Given the description of an element on the screen output the (x, y) to click on. 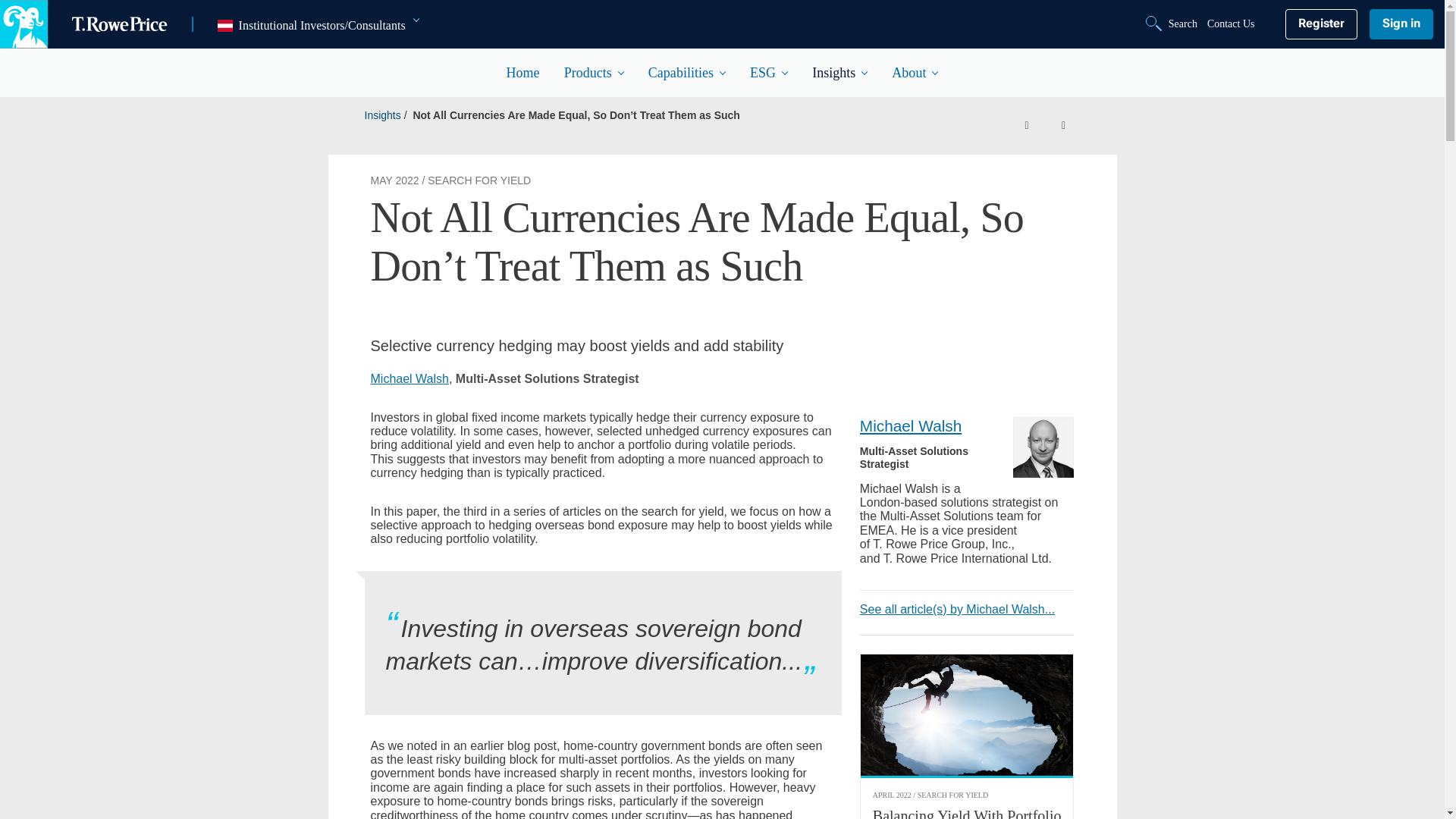
Michael Walsh (1043, 446)
Contact Us (1231, 24)
Search (1173, 24)
Sign in (1401, 24)
Register (1320, 24)
